Given the description of an element on the screen output the (x, y) to click on. 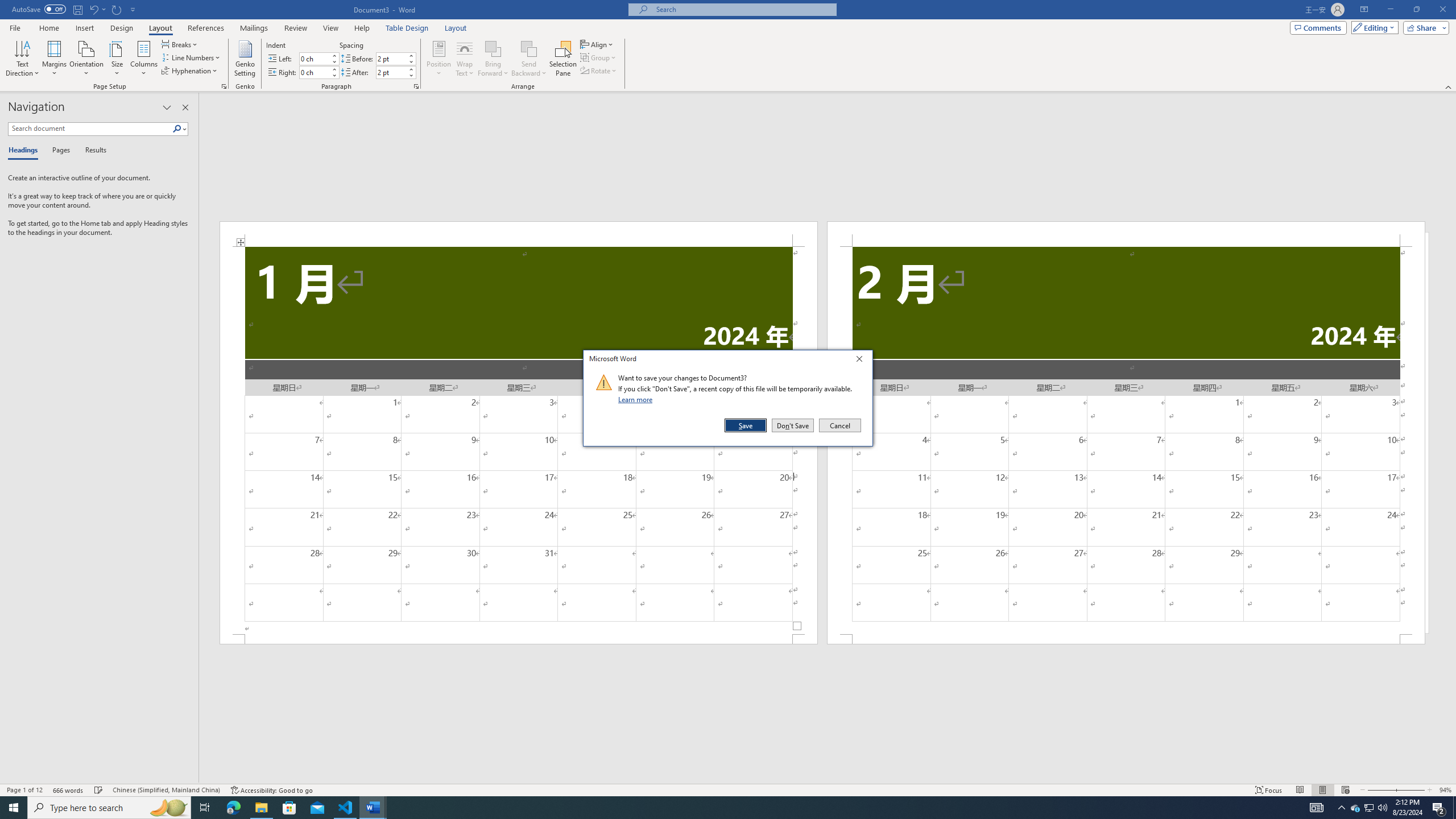
Learn more (636, 399)
Columns (143, 58)
